Given the description of an element on the screen output the (x, y) to click on. 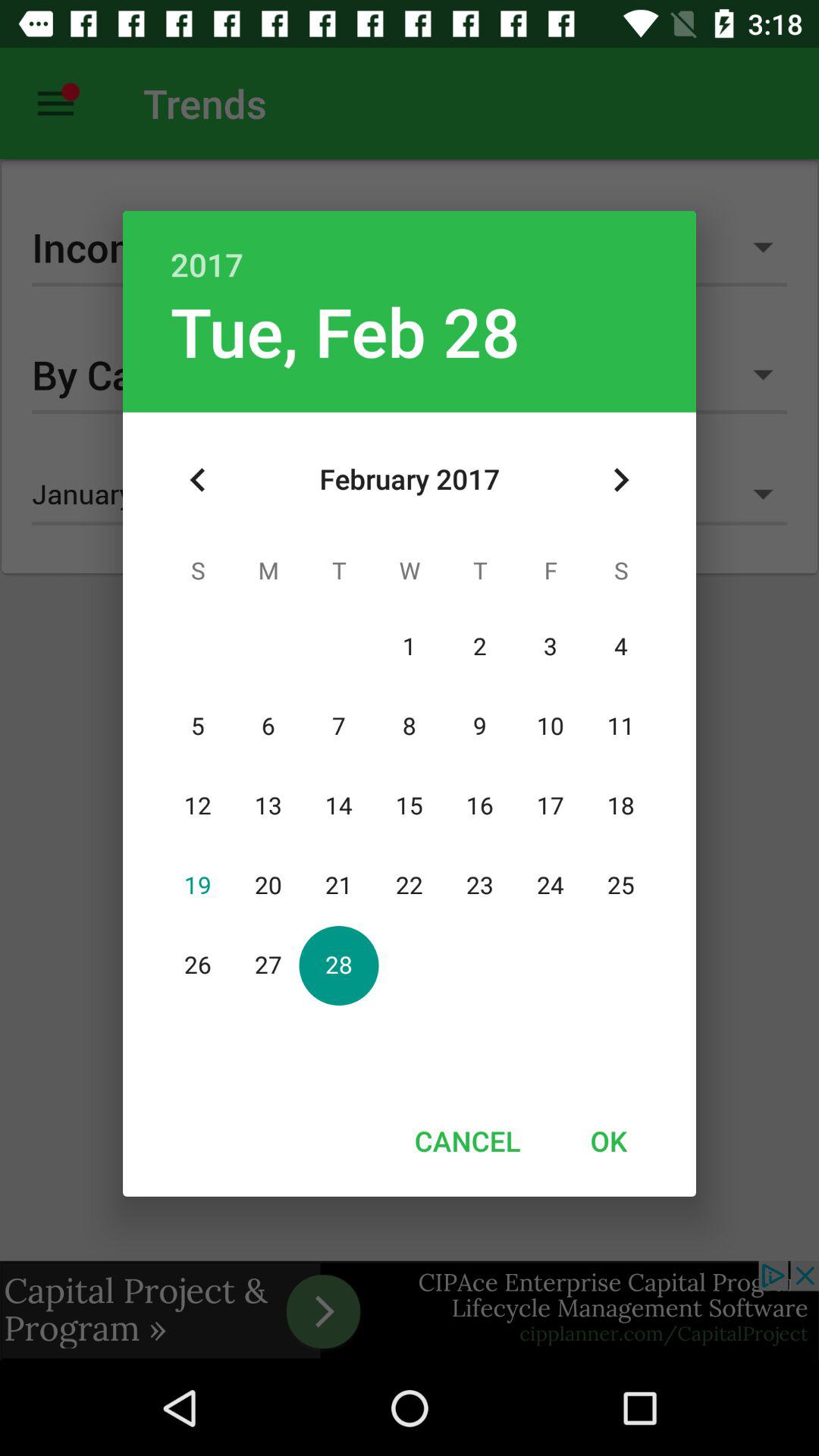
turn on the tue, feb 28 (345, 331)
